Given the description of an element on the screen output the (x, y) to click on. 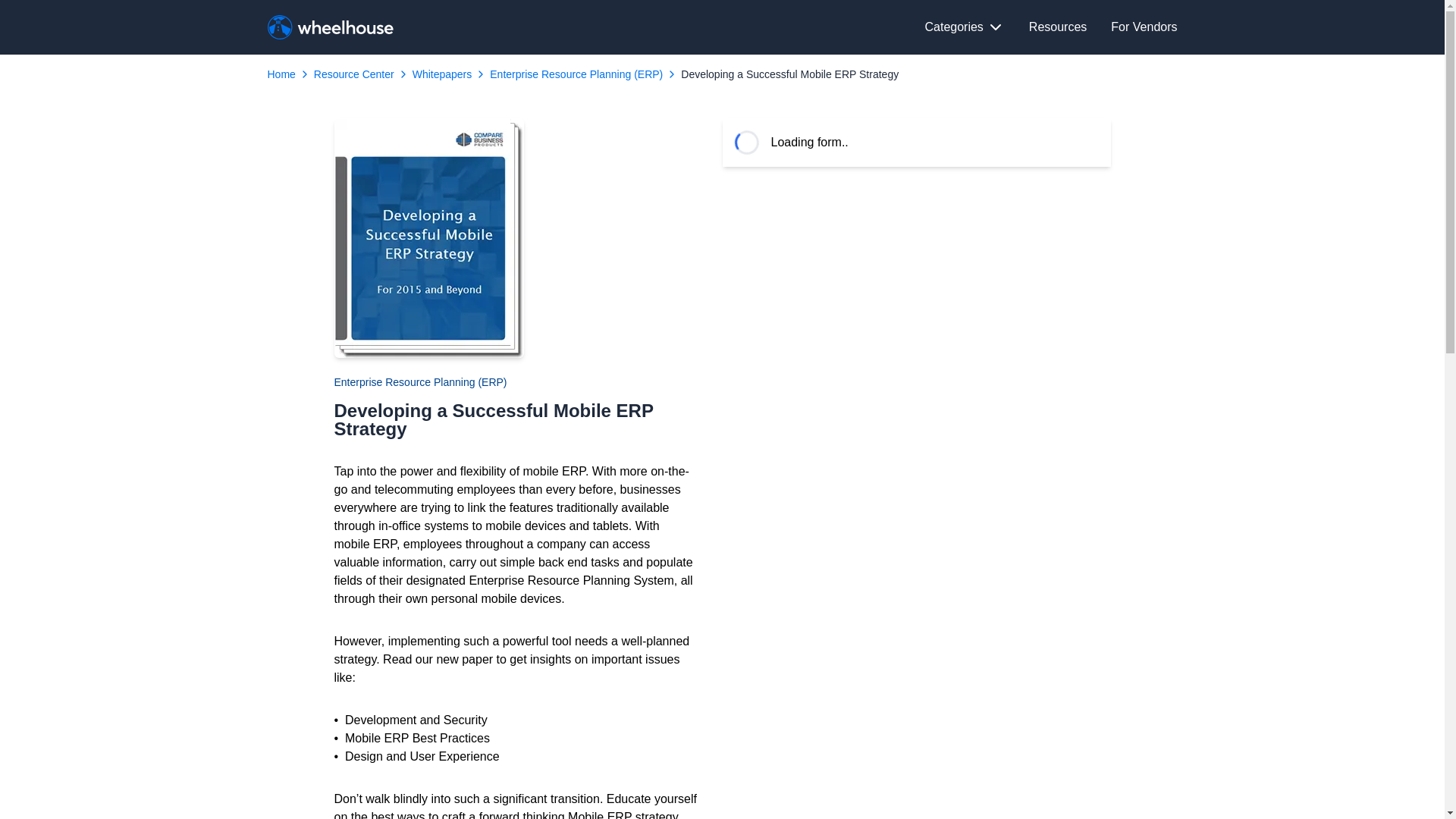
Resources (1057, 26)
Categories (964, 26)
Developing a Successful Mobile ERP Strategy (789, 73)
Whitepapers (441, 73)
Resource Center (354, 73)
Home (280, 73)
For Vendors (1143, 26)
